Given the description of an element on the screen output the (x, y) to click on. 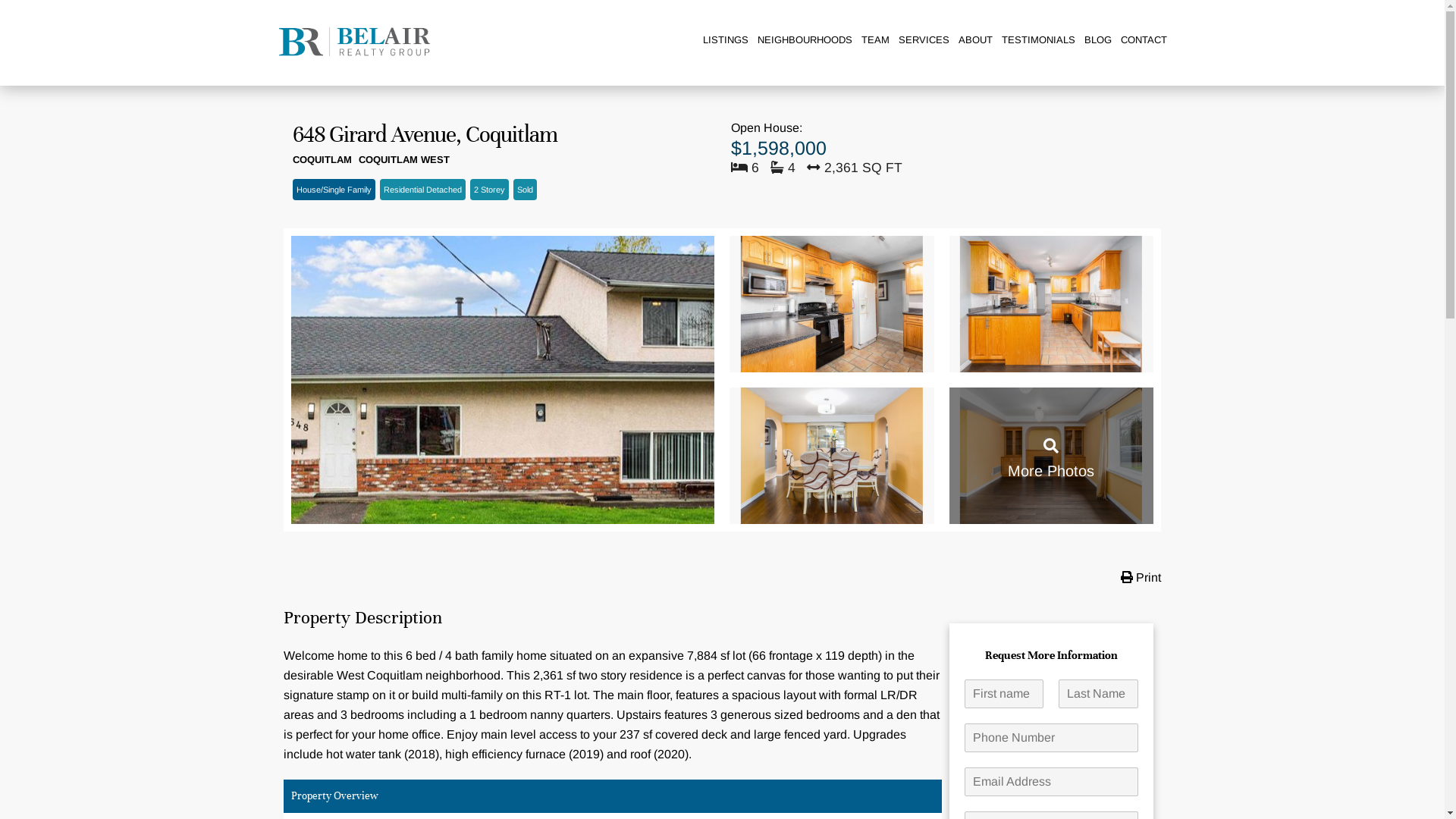
More Photos Element type: text (1051, 455)
Print Element type: text (1139, 576)
CONTACT Element type: text (1143, 39)
TESTIMONIALS Element type: text (1037, 39)
SERVICES Element type: text (922, 39)
BLOG Element type: text (1097, 39)
NEIGHBOURHOODS Element type: text (803, 39)
LISTINGS Element type: text (724, 39)
ABOUT Element type: text (975, 39)
TEAM Element type: text (875, 39)
